Given the description of an element on the screen output the (x, y) to click on. 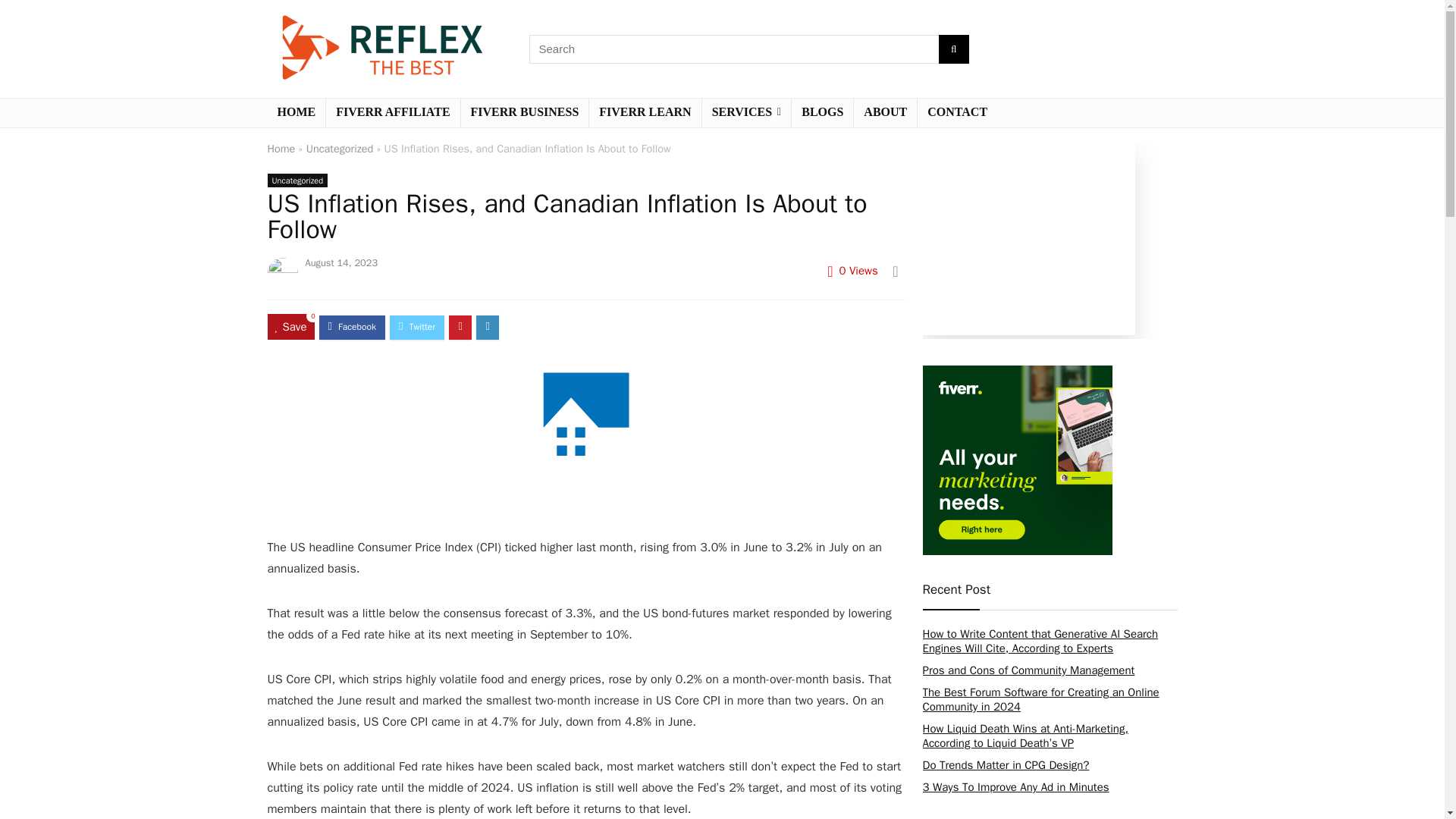
Uncategorized (339, 148)
FIVERR BUSINESS (525, 112)
ABOUT (885, 112)
Uncategorized (296, 180)
View all posts in Uncategorized (296, 180)
BLOGS (822, 112)
SERVICES (746, 112)
FIVERR LEARN (644, 112)
CONTACT (957, 112)
Pros and Cons of Community Management (1027, 670)
Home (280, 148)
FIVERR AFFILIATE (393, 112)
HOME (295, 112)
